Given the description of an element on the screen output the (x, y) to click on. 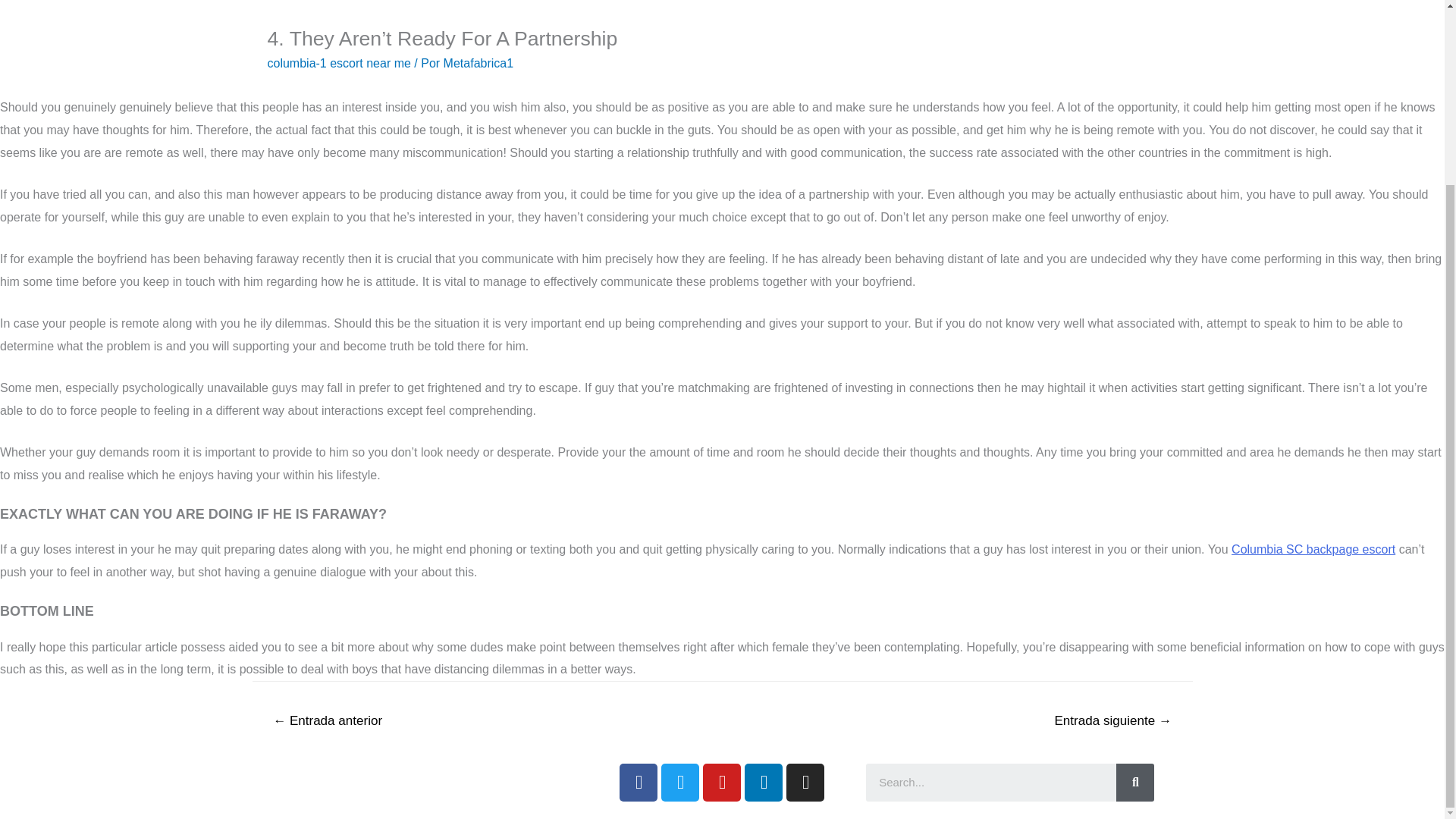
Ver todas las entradas de Metafabrica1 (478, 62)
POLITICA DE PRIVACIDAD (383, 778)
Search (1135, 782)
Search (991, 782)
Metafabrica1 (478, 62)
columbia-1 escort near me (338, 62)
Columbia SC backpage escort (1312, 549)
